Given the description of an element on the screen output the (x, y) to click on. 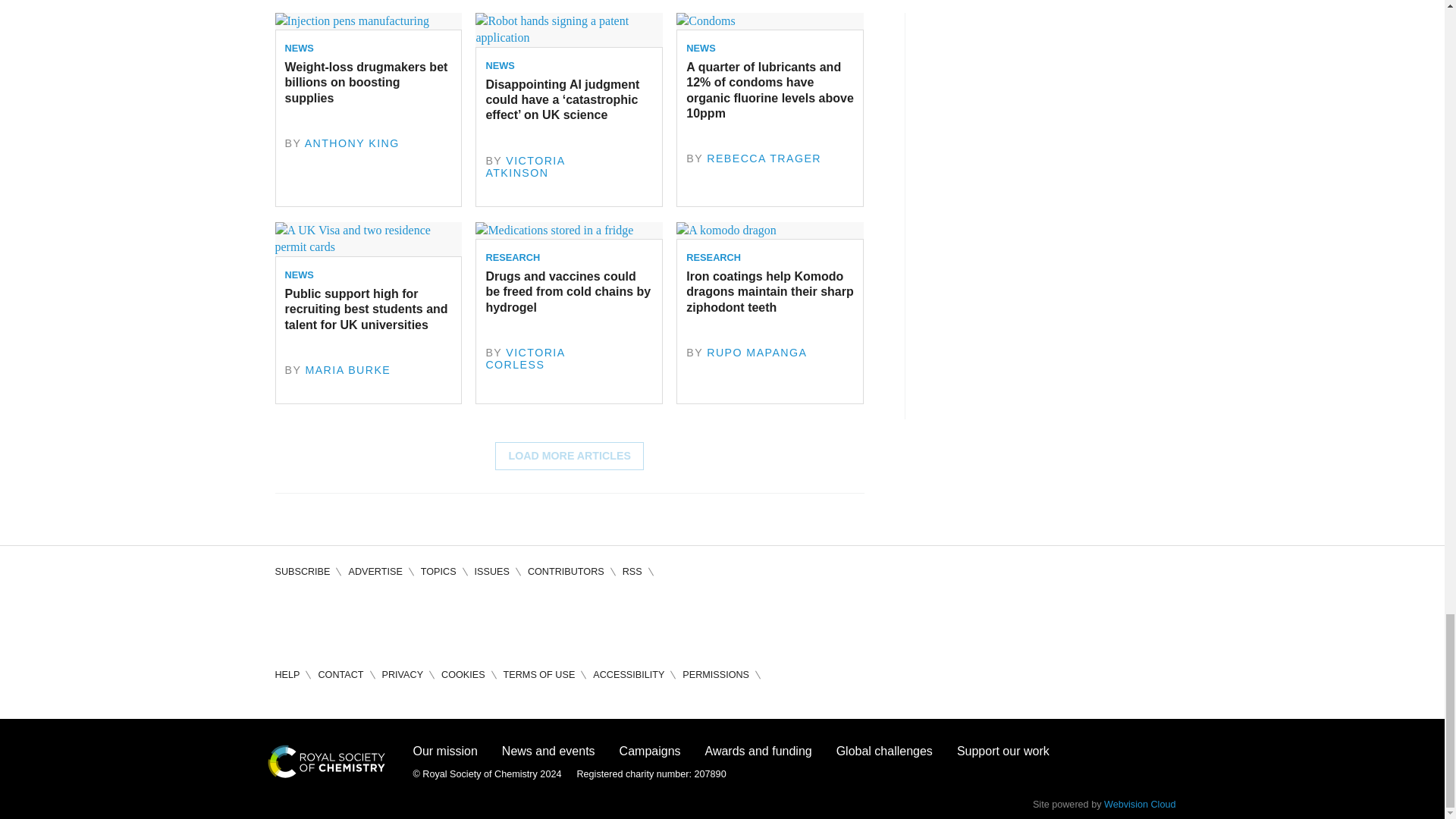
Connect on Linked in (373, 619)
Watch on Vimeo (416, 619)
Follow on Twitter (330, 619)
Follow on Facebook (287, 619)
